Given the description of an element on the screen output the (x, y) to click on. 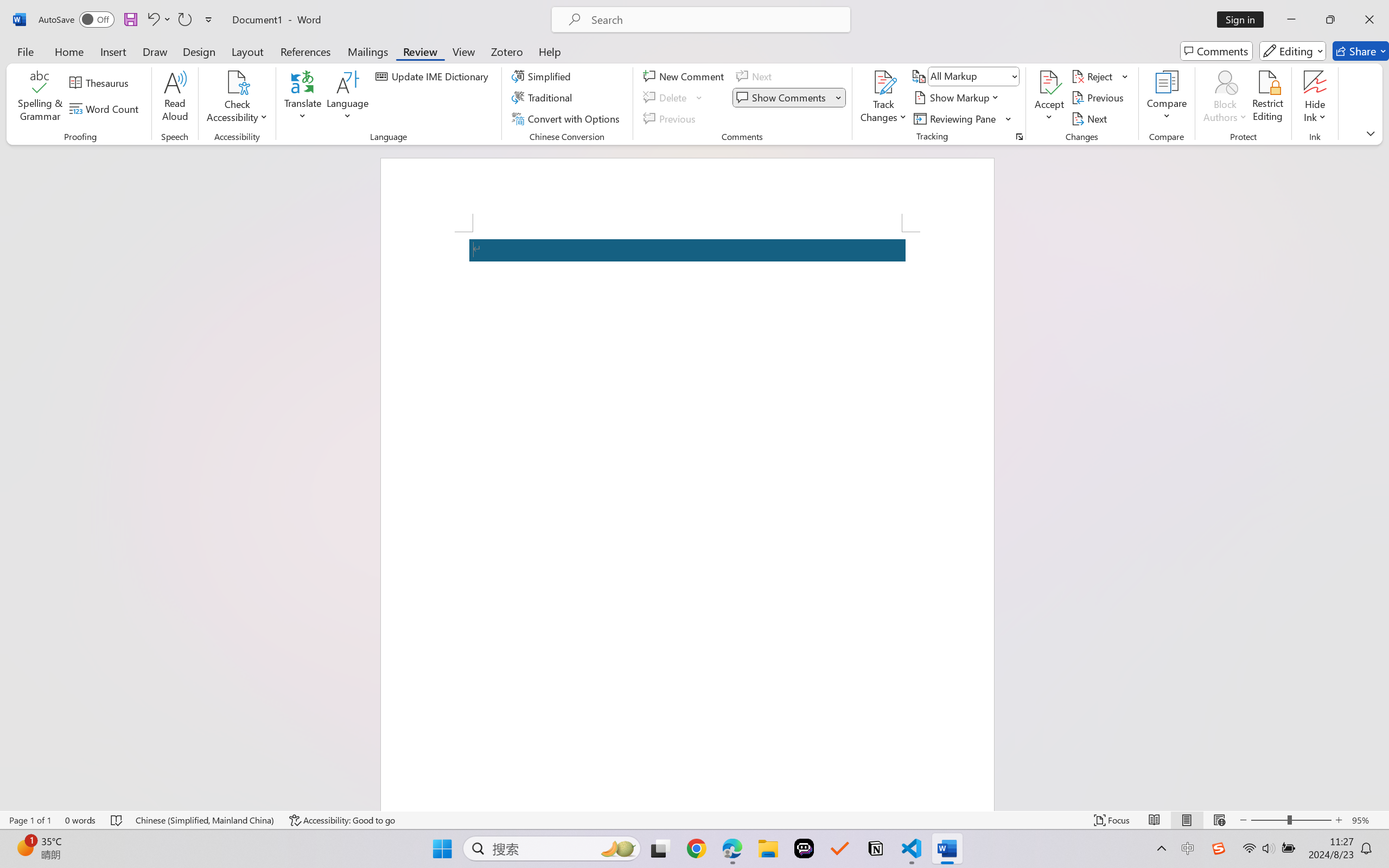
Display for Review (973, 75)
Accept and Move to Next (1049, 81)
Hide Ink (1315, 97)
Previous (1099, 97)
Show Comments (782, 97)
Track Changes (883, 81)
Track Changes (883, 97)
Undo Apply Quick Style Set (158, 19)
Reviewing Pane (955, 118)
